Given the description of an element on the screen output the (x, y) to click on. 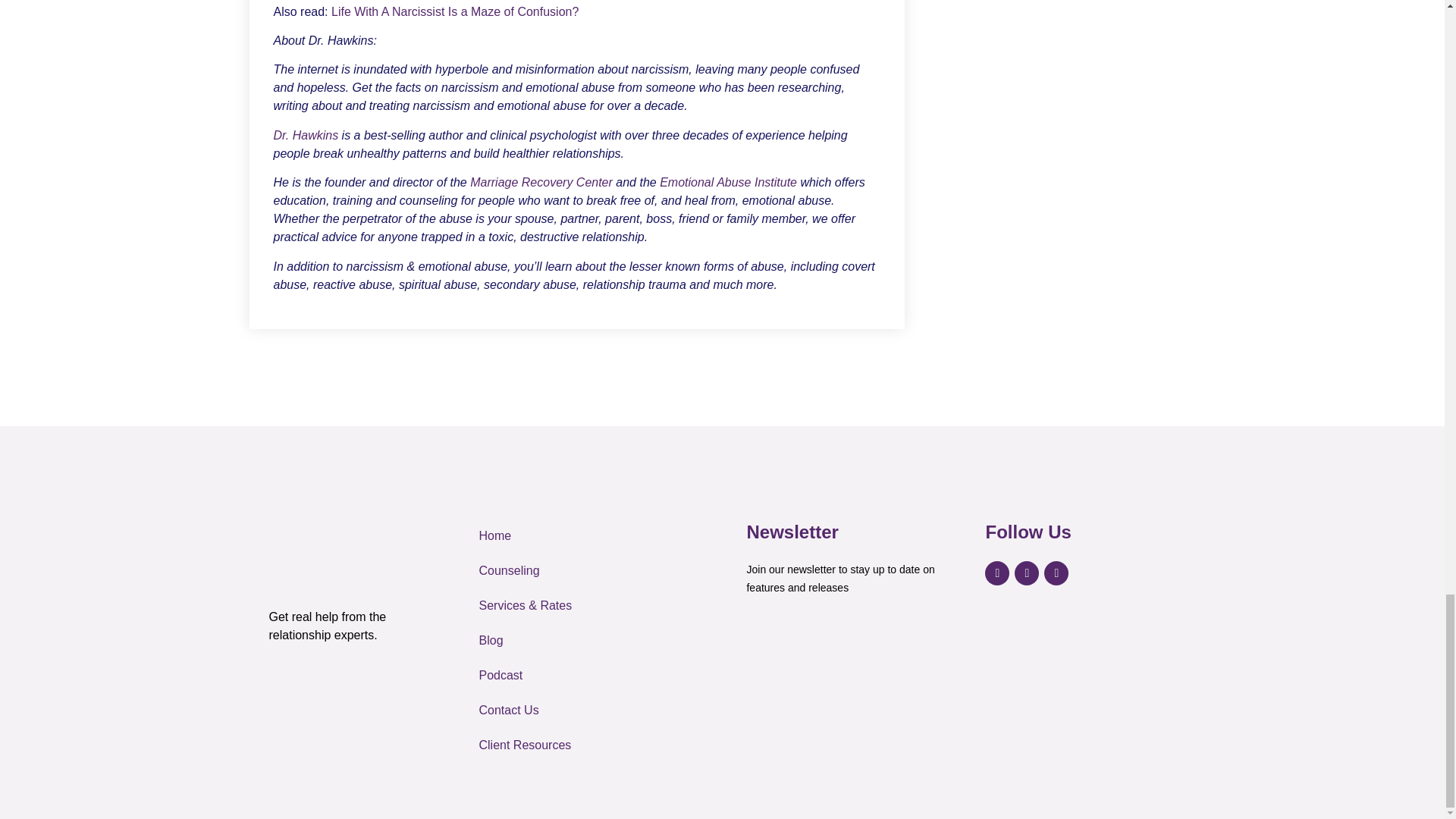
Emotional Abuse Institute (727, 182)
Marriage Recovery Center (541, 182)
Life With A Narcissist Is a Maze of Confusion? (454, 11)
Dr. Hawkins (305, 134)
